Given the description of an element on the screen output the (x, y) to click on. 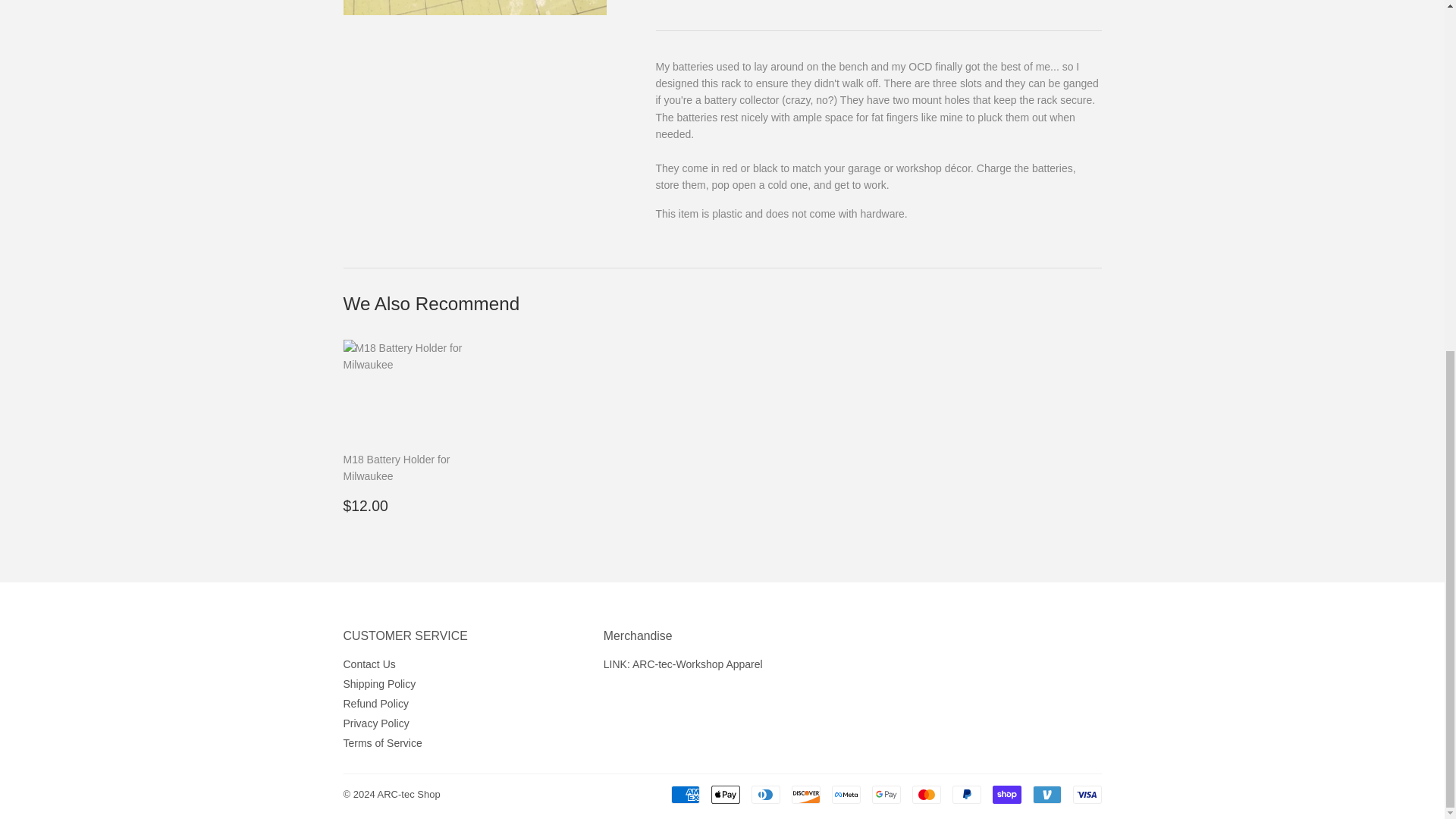
Diners Club (764, 794)
Meta Pay (845, 794)
Mastercard (925, 794)
Apple Pay (725, 794)
American Express (683, 794)
Google Pay (886, 794)
Venmo (1046, 794)
Discover (806, 794)
Shop Pay (1005, 794)
PayPal (966, 794)
